Given the description of an element on the screen output the (x, y) to click on. 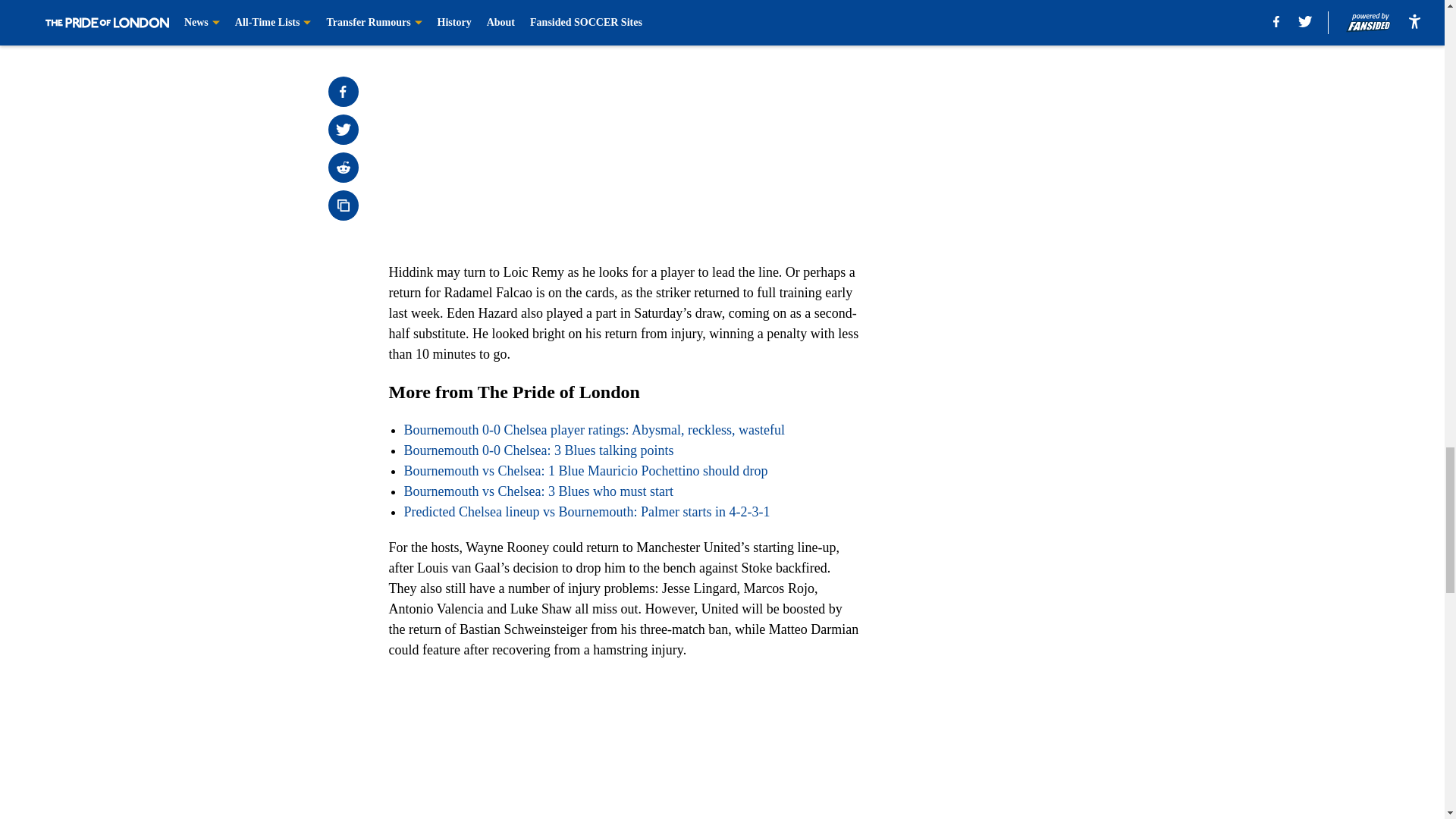
Bournemouth vs Chelsea: 3 Blues who must start (537, 491)
Bournemouth 0-0 Chelsea: 3 Blues talking points (537, 450)
